Given the description of an element on the screen output the (x, y) to click on. 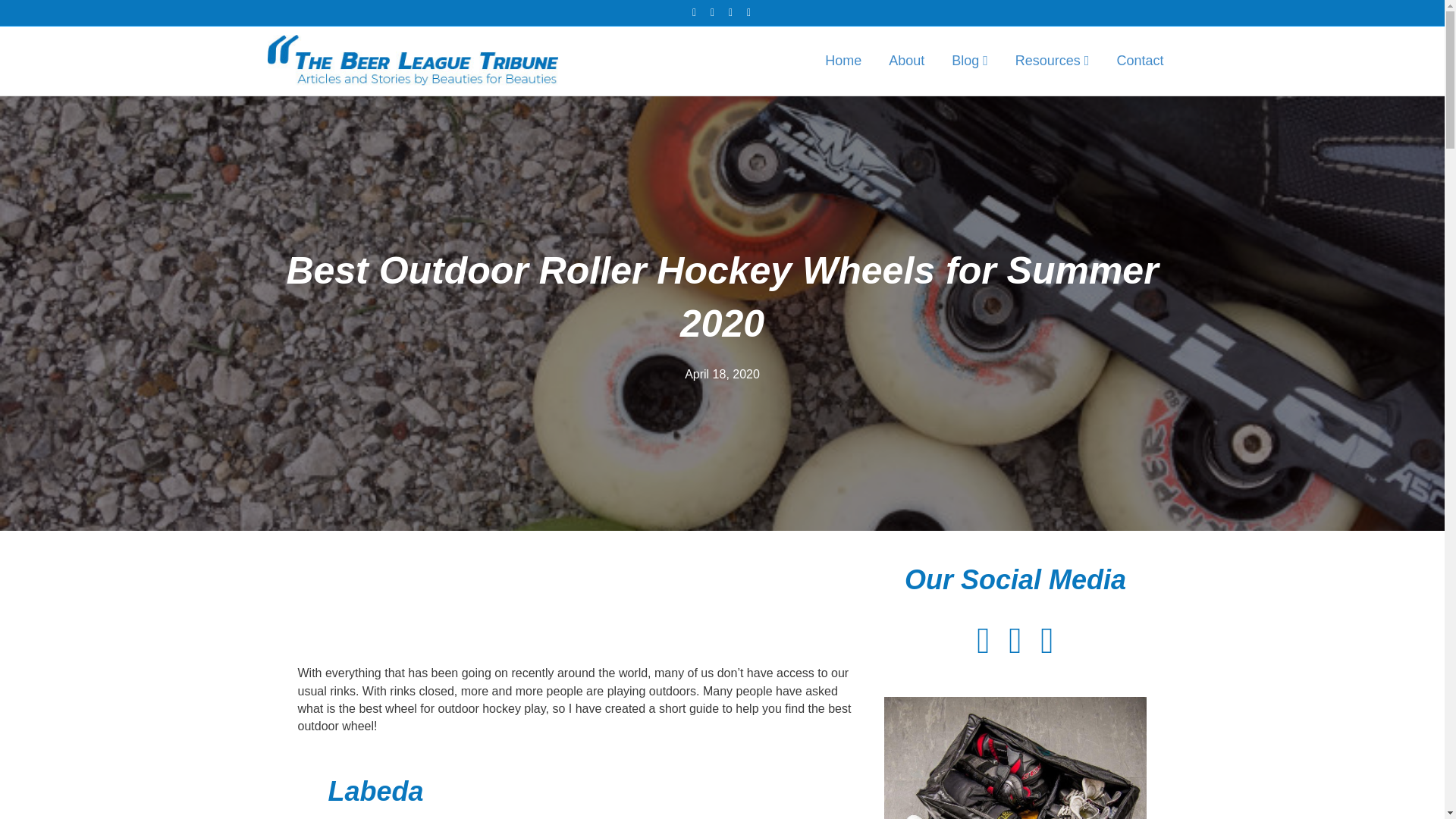
Resources (1052, 61)
Facebook (694, 11)
About (906, 60)
Email (748, 11)
Instagram (730, 11)
Blog (969, 61)
Home (842, 60)
Advertisement (575, 595)
Twitter (712, 11)
